Given the description of an element on the screen output the (x, y) to click on. 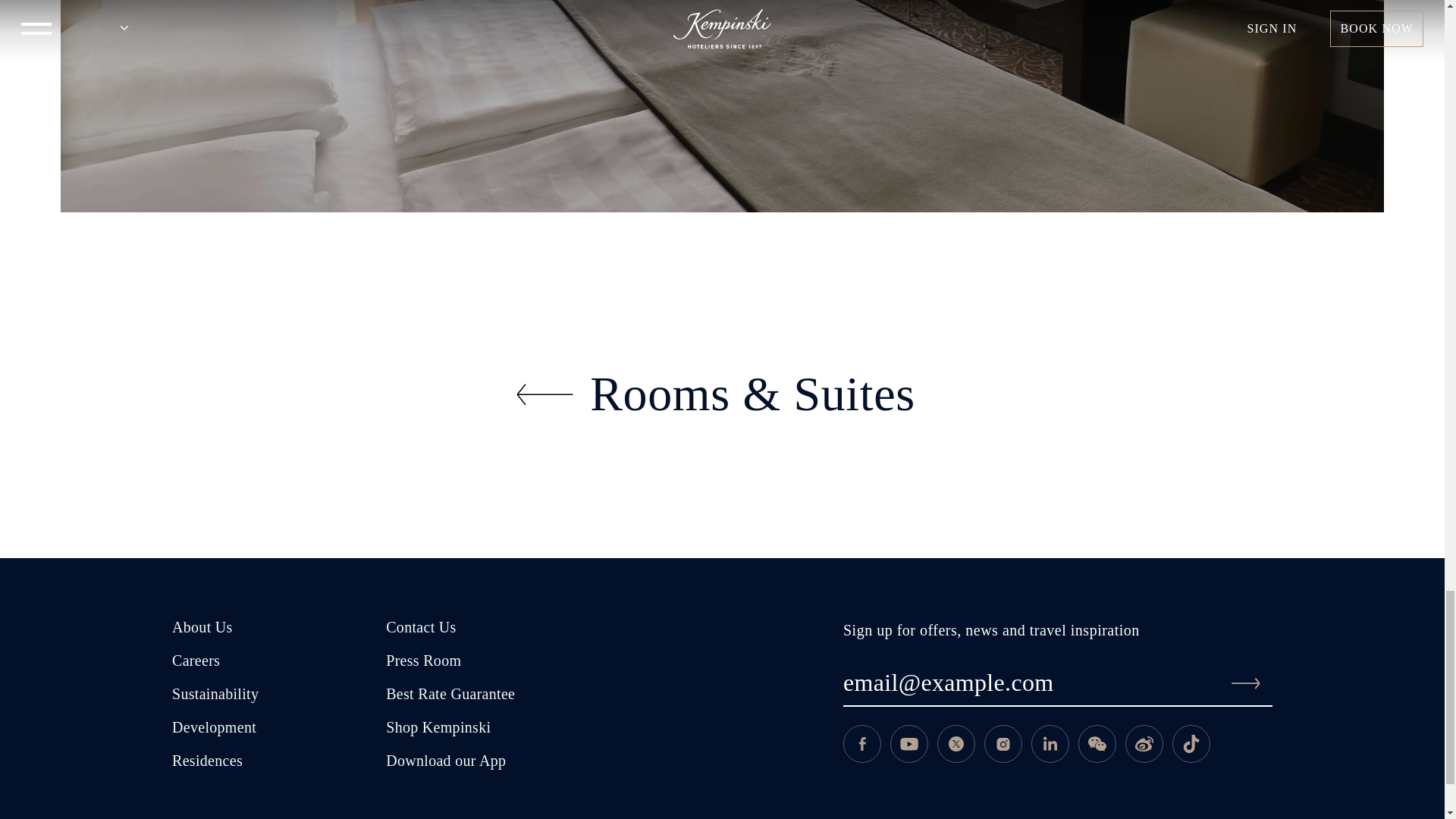
Best Rate Guarantee (450, 695)
Download our App (445, 762)
Development (213, 729)
Shop Kempinski (437, 729)
Contact Us (420, 629)
Press Room (423, 662)
About Us (201, 629)
Careers (195, 662)
Residences (207, 762)
Sustainability (215, 695)
